Given the description of an element on the screen output the (x, y) to click on. 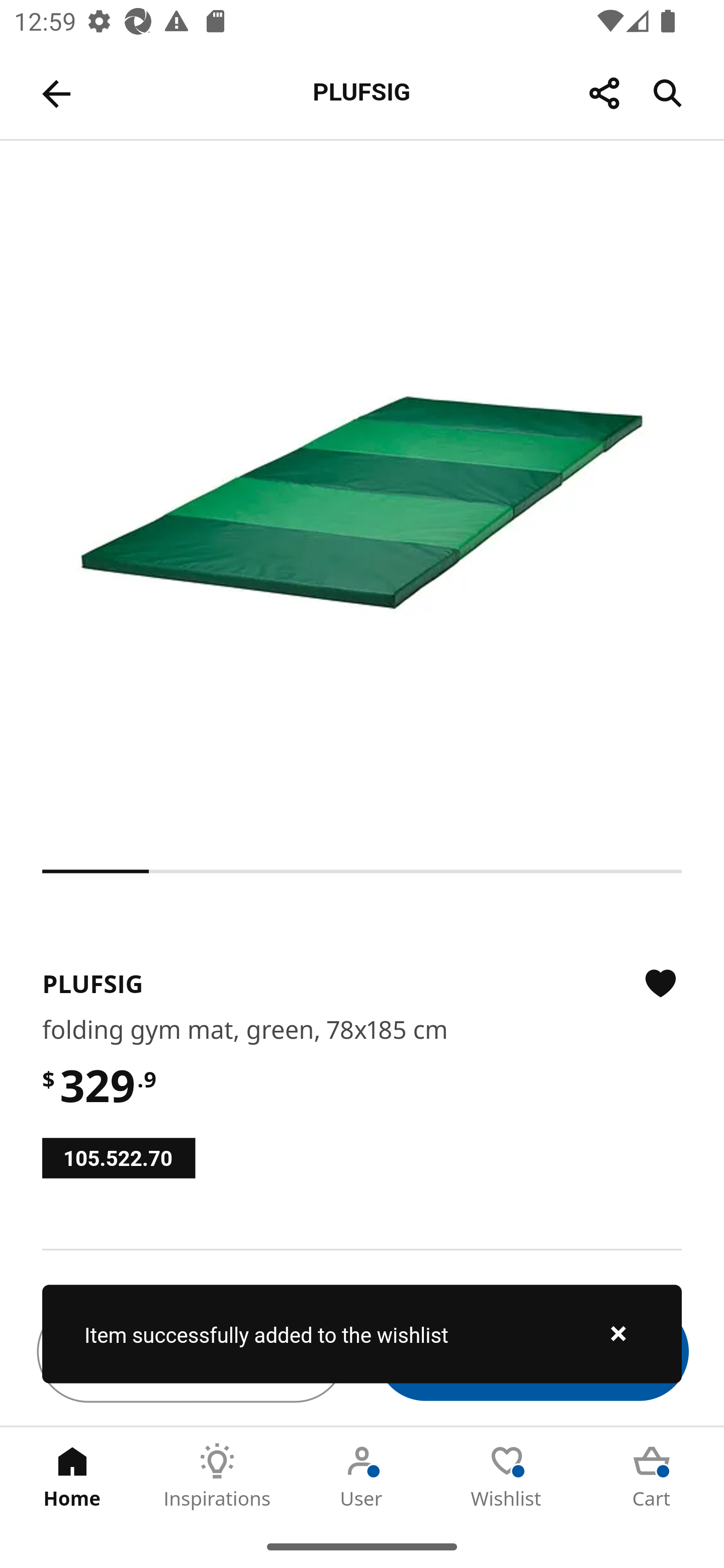
Item successfully added to the wishlist (361, 1333)
Home
Tab 1 of 5 (72, 1476)
Inspirations
Tab 2 of 5 (216, 1476)
User
Tab 3 of 5 (361, 1476)
Wishlist
Tab 4 of 5 (506, 1476)
Cart
Tab 5 of 5 (651, 1476)
